Given the description of an element on the screen output the (x, y) to click on. 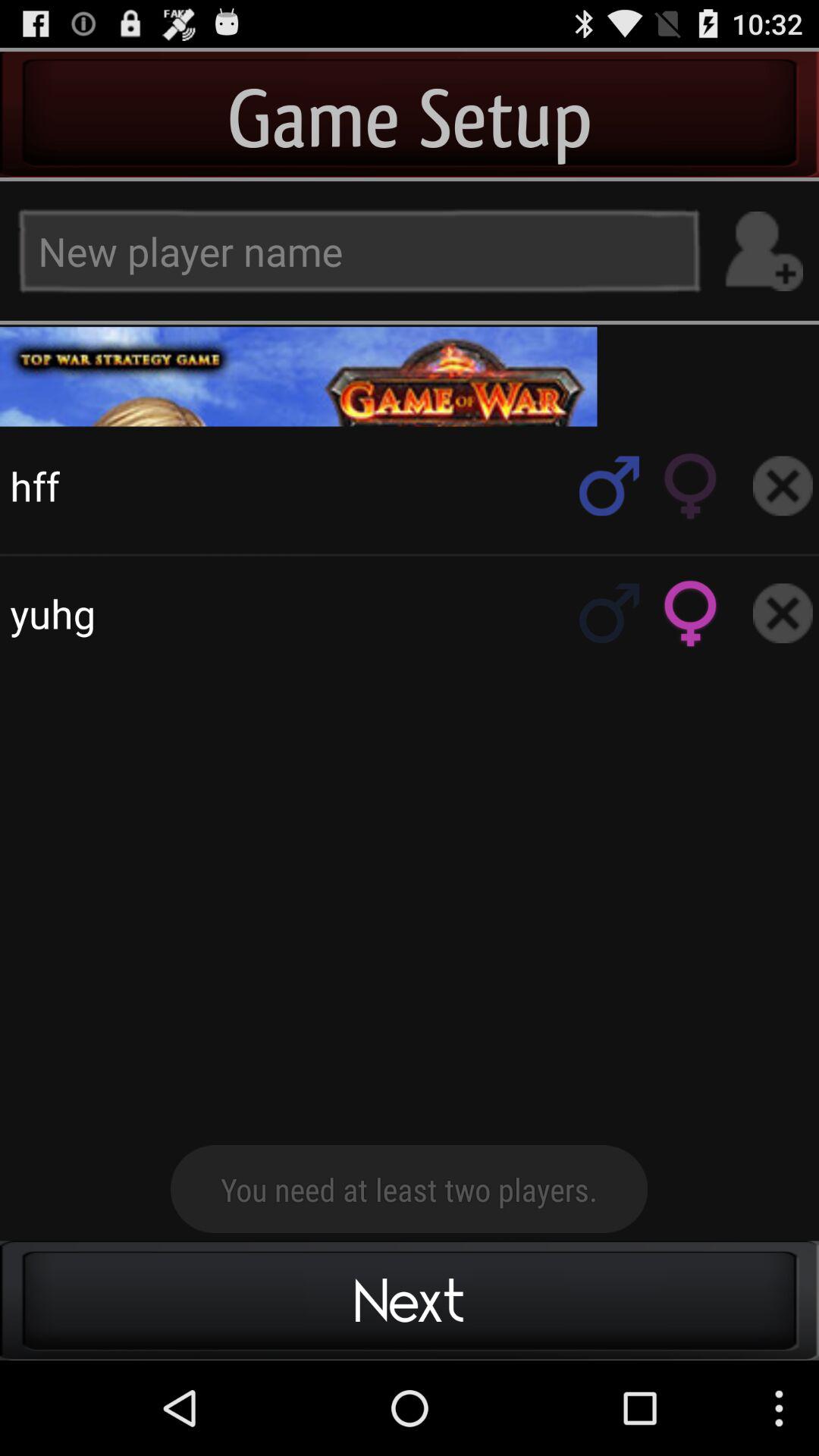
go to next (409, 376)
